Given the description of an element on the screen output the (x, y) to click on. 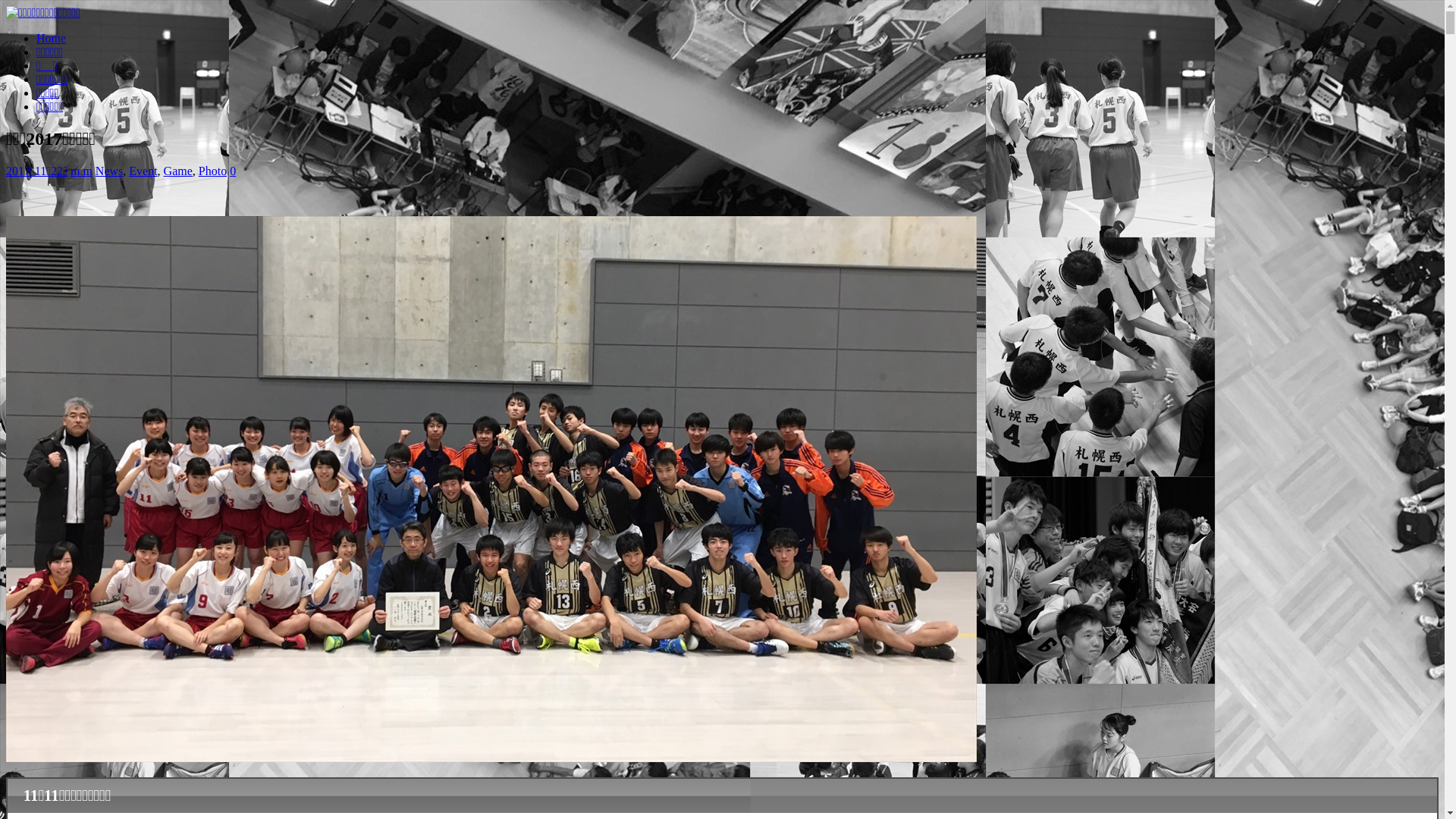
0 Element type: text (232, 170)
News Element type: text (108, 170)
Event Element type: text (142, 170)
Game Element type: text (177, 170)
Photo Element type: text (212, 170)
m.m Element type: text (81, 170)
Home Element type: text (50, 37)
